Given the description of an element on the screen output the (x, y) to click on. 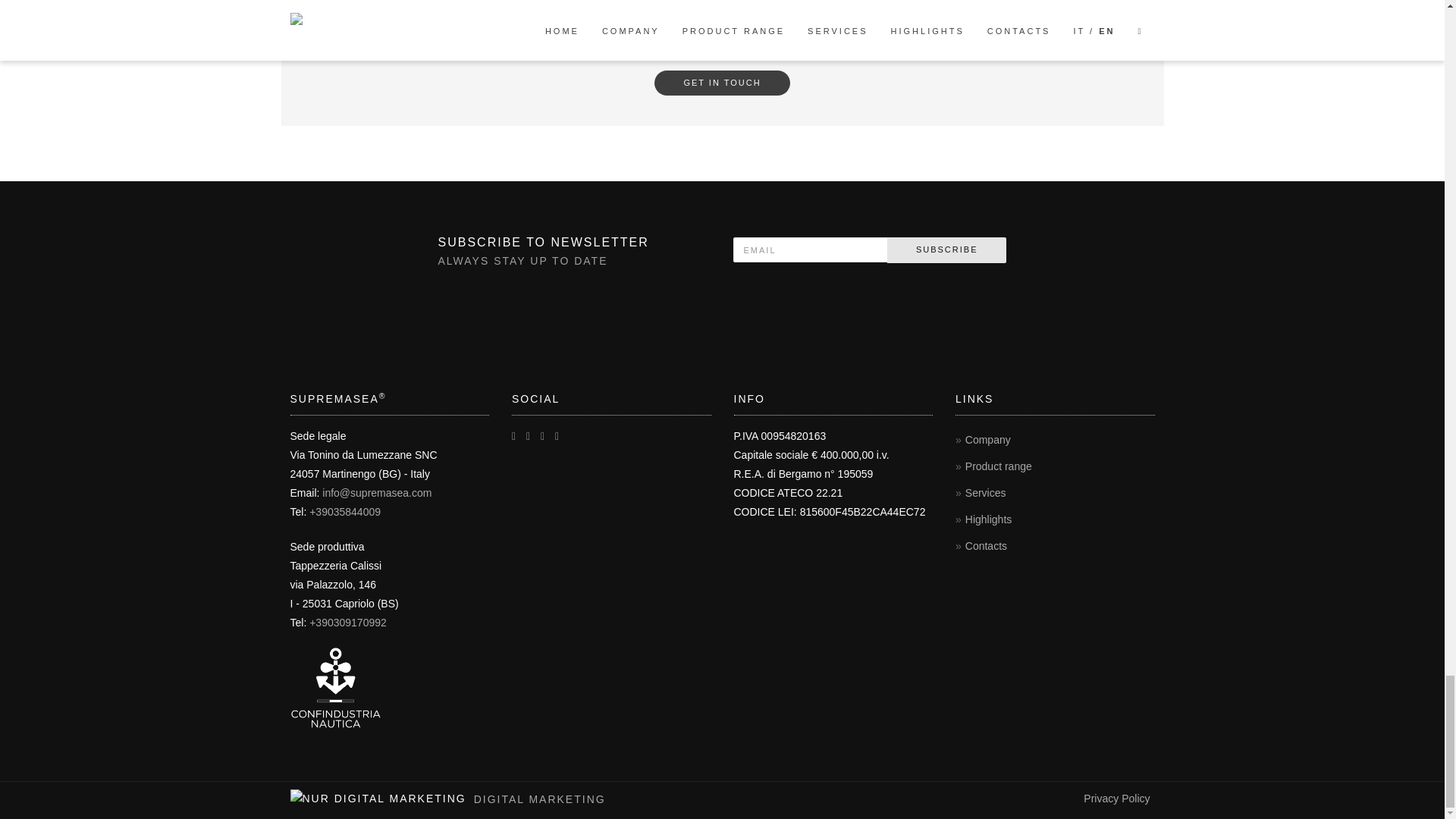
SUBSCRIBE (946, 249)
GET IN TOUCH (721, 83)
